Given the description of an element on the screen output the (x, y) to click on. 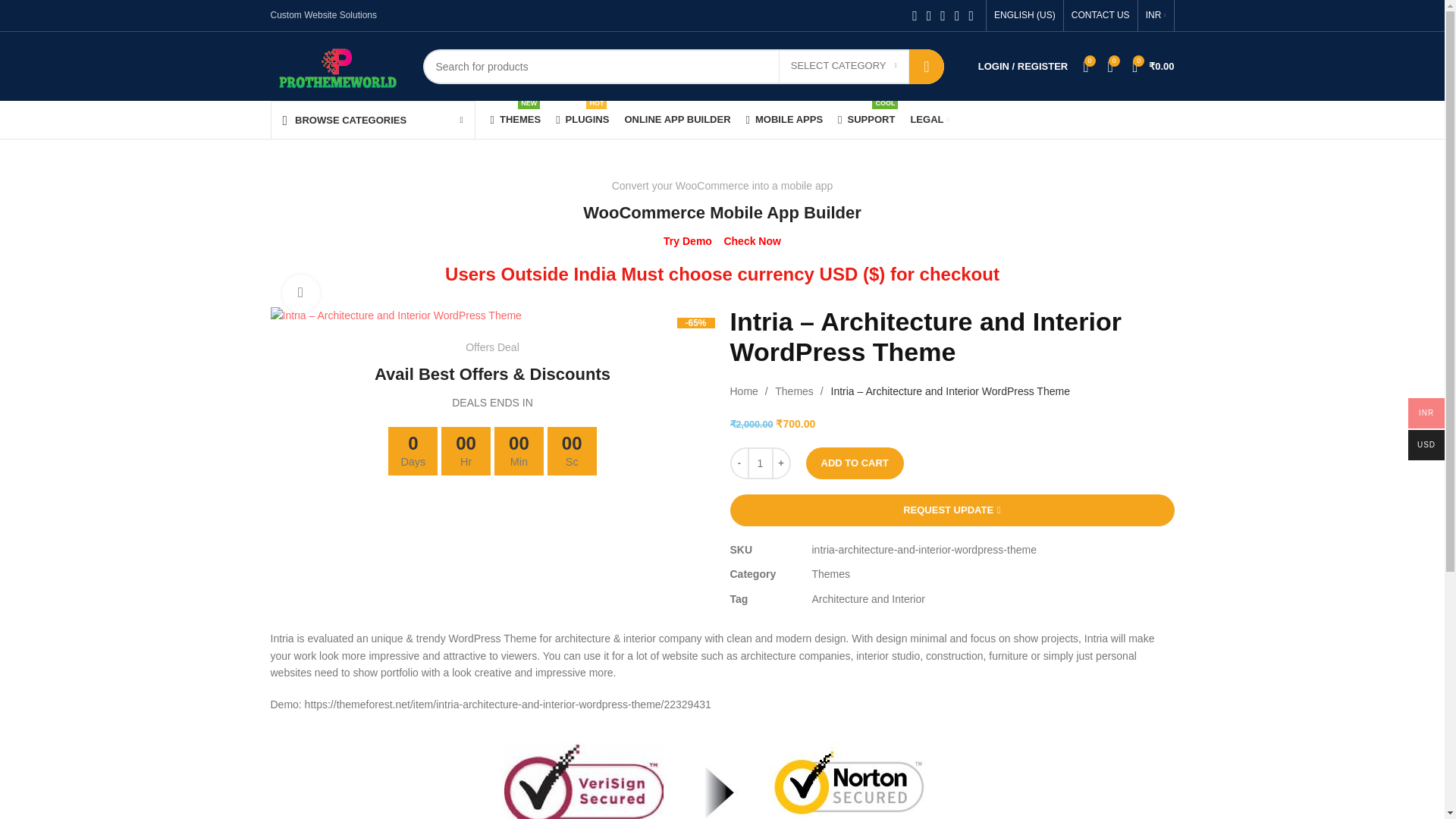
ONLINE APP BUILDER (677, 119)
SELECT CATEGORY (843, 65)
Shopping cart (1153, 66)
Search for products (683, 65)
CONTACT US (1100, 15)
My account (866, 119)
MOBILE APPS (1023, 66)
SEARCH (784, 119)
